Given the description of an element on the screen output the (x, y) to click on. 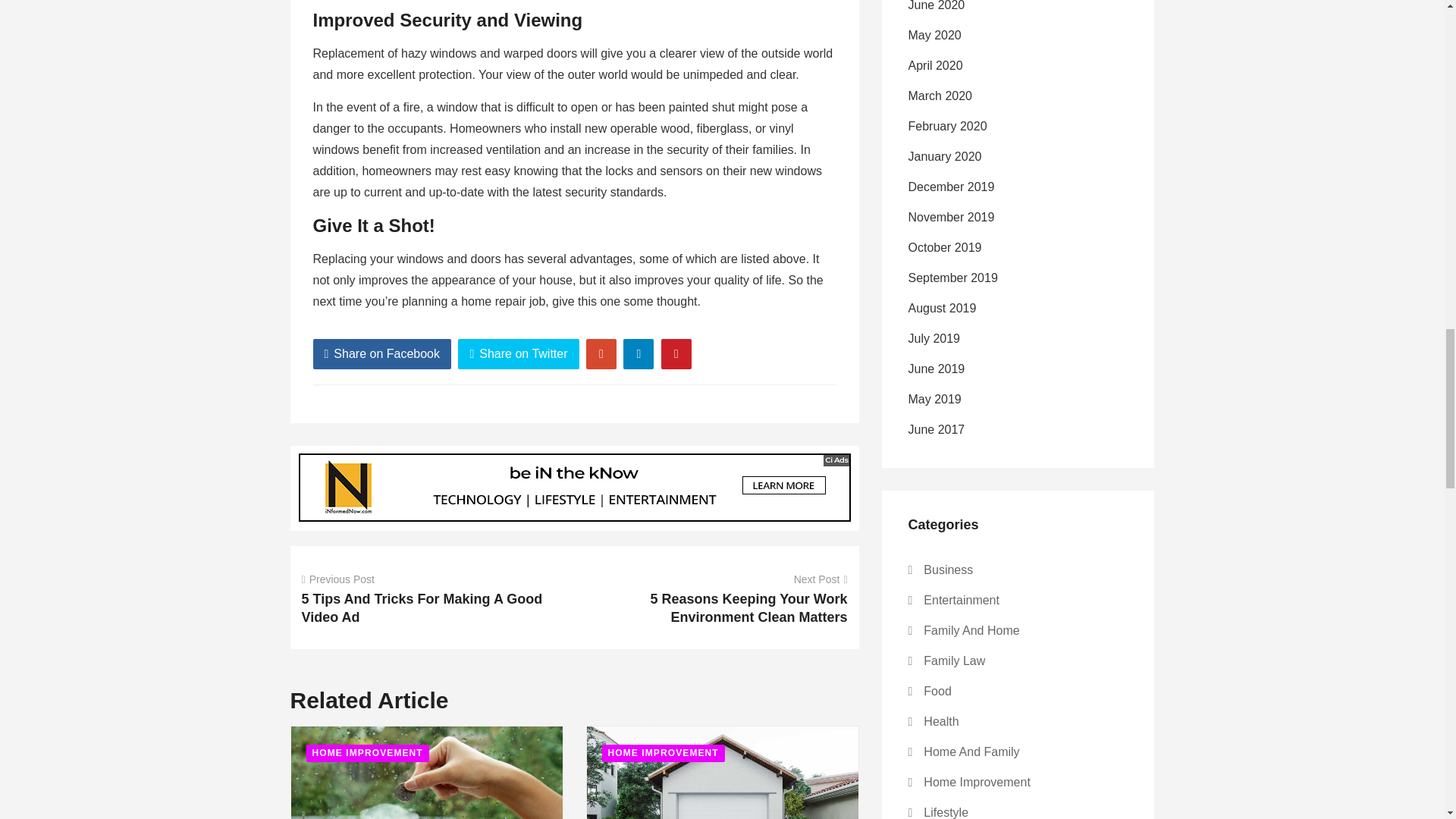
Share on Facebook! (382, 354)
Share on Twitter! (518, 354)
